Given the description of an element on the screen output the (x, y) to click on. 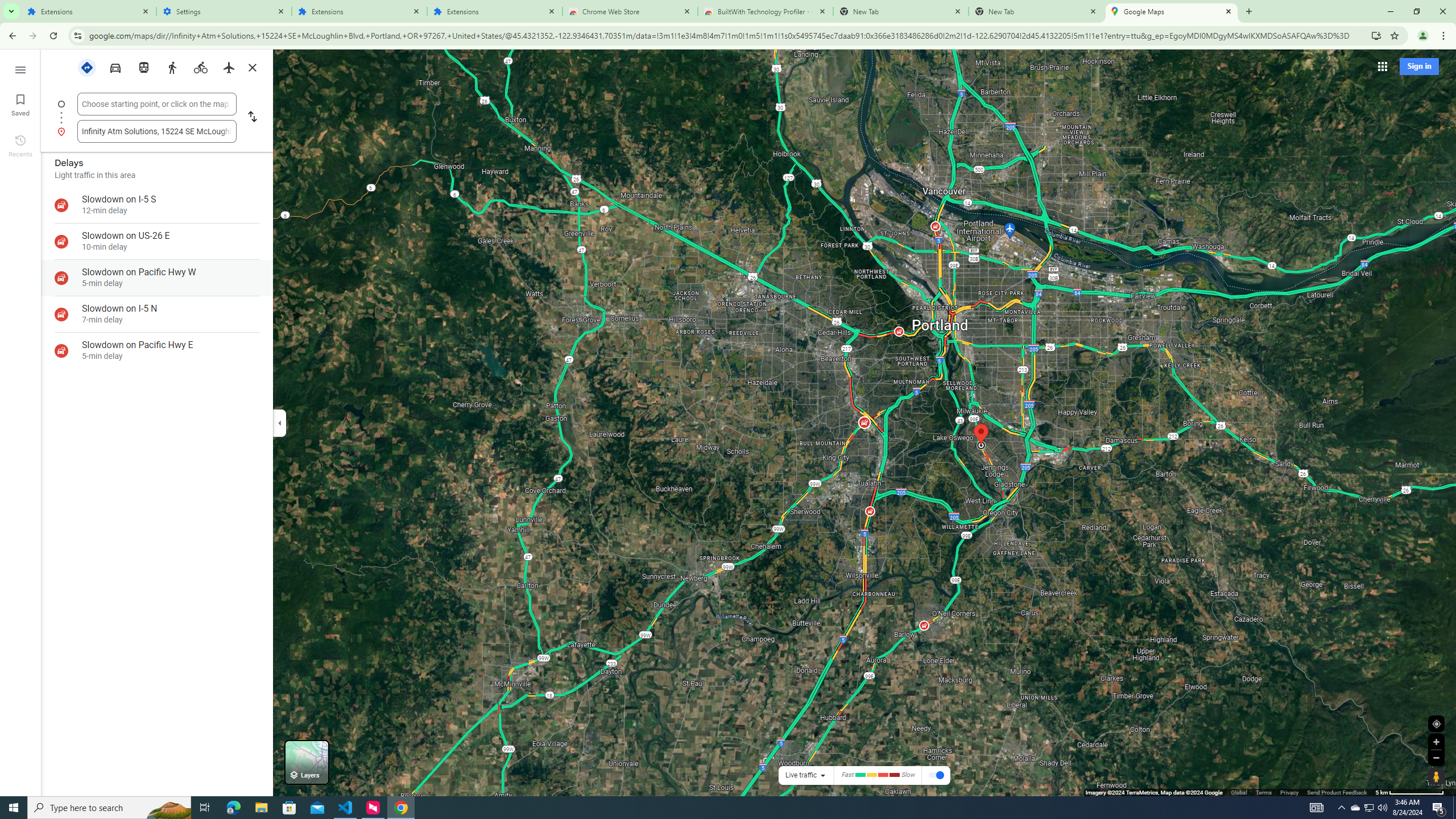
Send Product Feedback (1337, 792)
Walking (172, 67)
AutomationID: sb_ifc51 (156, 131)
Transit (143, 66)
Driving (115, 66)
AutomationID: sb_ifc50 (156, 103)
Layers (306, 762)
Reverse starting point and destination (251, 117)
